Given the description of an element on the screen output the (x, y) to click on. 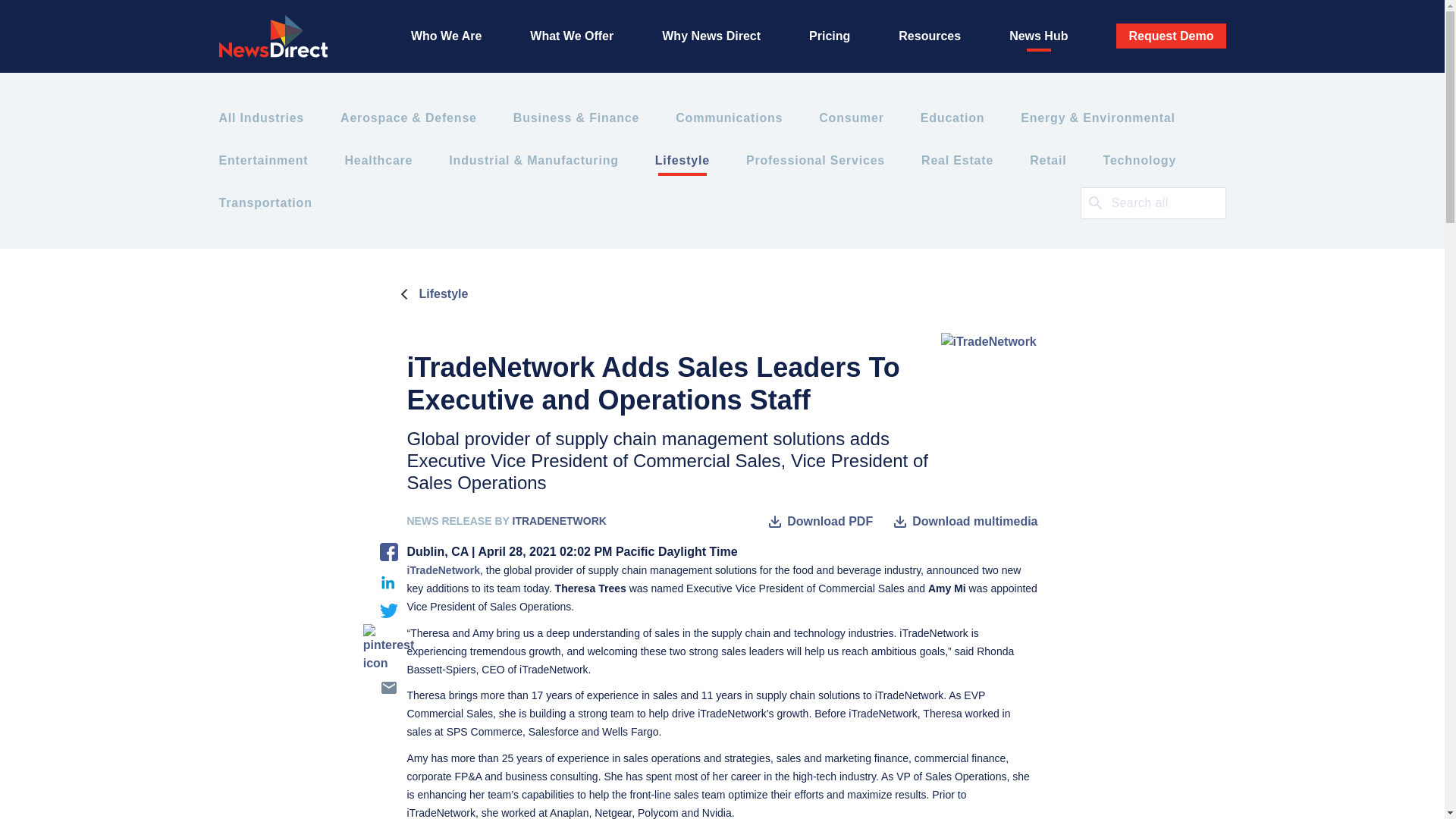
Who We Are (445, 36)
Entertainment (262, 160)
Download PDF (818, 521)
Retail (1047, 160)
Download multimedia (963, 521)
Lifestyle (682, 160)
All Industries (261, 117)
Professional Services (815, 160)
Pricing (829, 36)
Healthcare (377, 160)
Communications (729, 117)
Consumer (850, 117)
Education (952, 117)
Lifestyle (430, 294)
Request Demo (1170, 35)
